Given the description of an element on the screen output the (x, y) to click on. 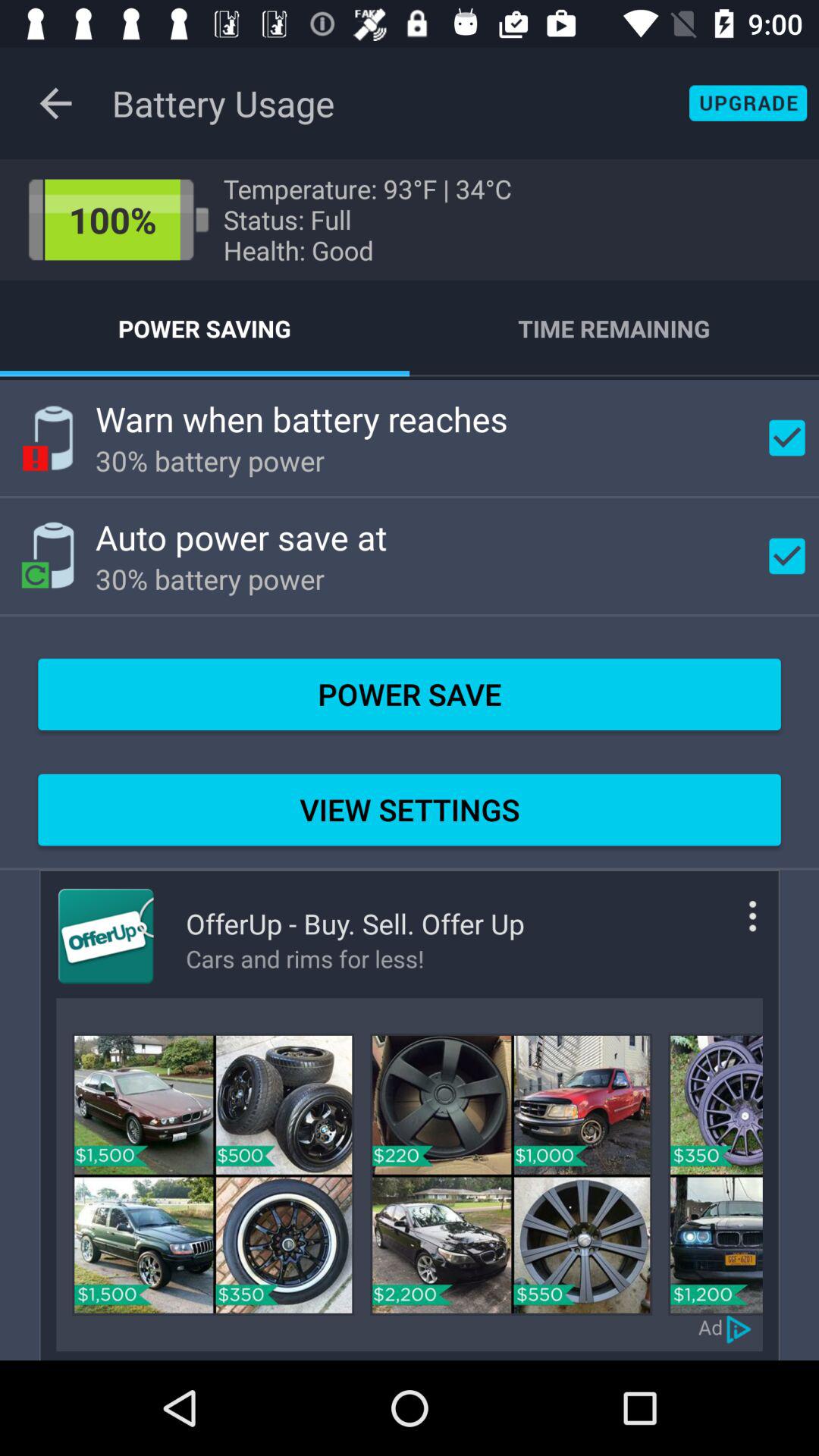
the vehicle wheels (213, 1174)
